Given the description of an element on the screen output the (x, y) to click on. 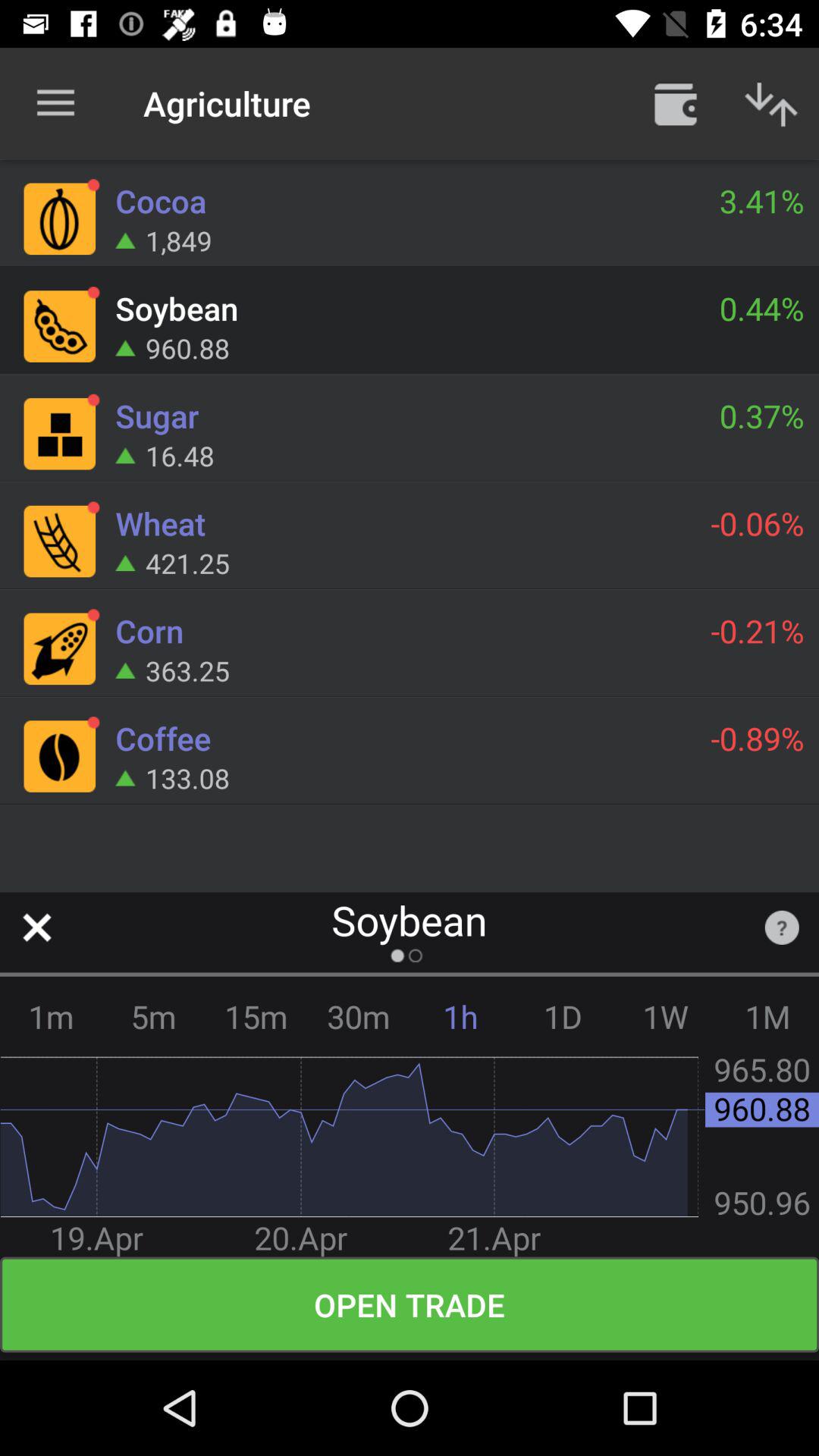
choose the icon to the right of the 1m icon (153, 1016)
